Given the description of an element on the screen output the (x, y) to click on. 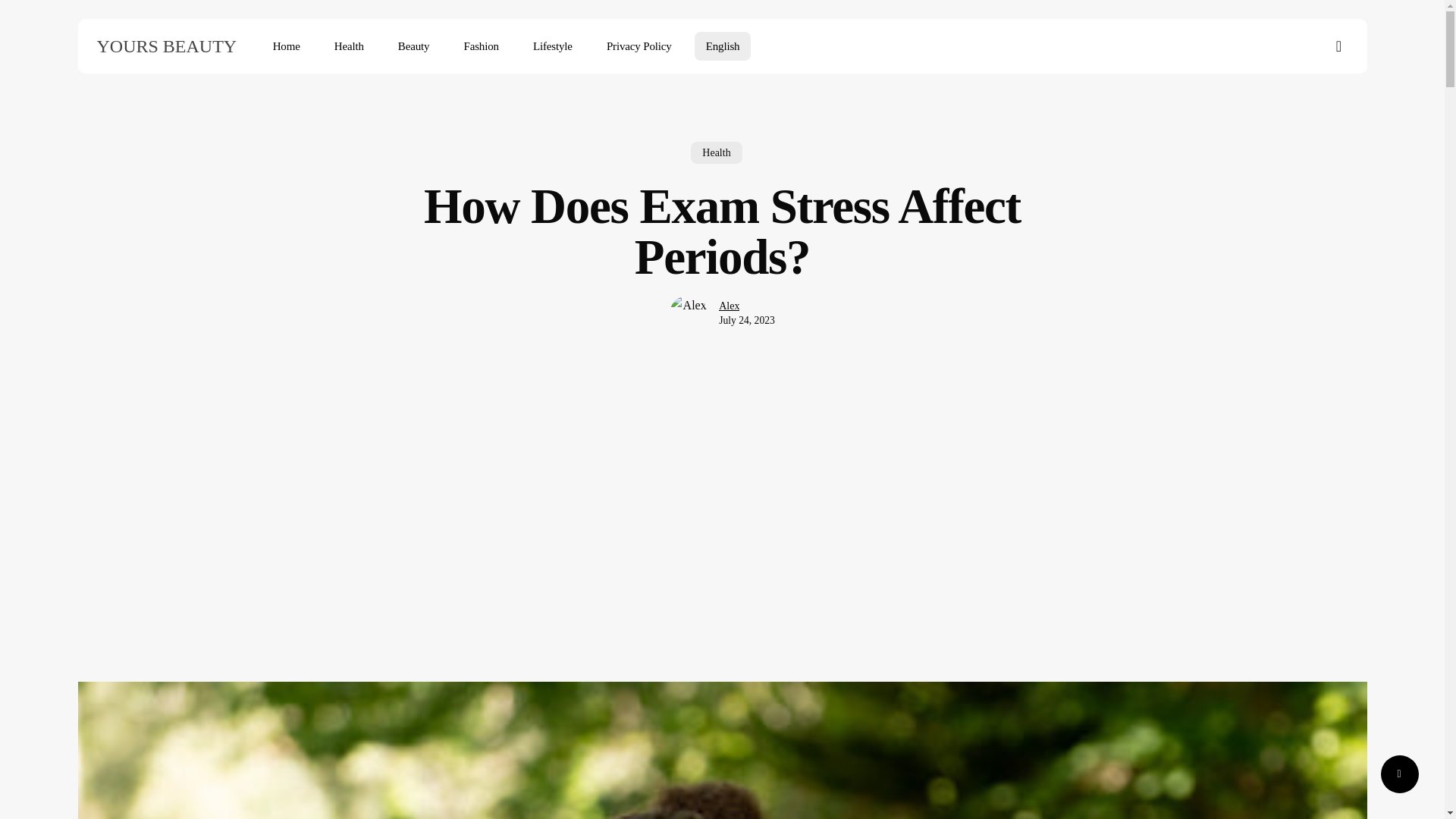
Lifestyle (552, 45)
Fashion (480, 45)
search (1339, 45)
Posts by Alex (729, 306)
Beauty (414, 45)
Health (715, 157)
Home (286, 45)
Alex (729, 319)
Health (349, 45)
Privacy Policy (638, 45)
